Given the description of an element on the screen output the (x, y) to click on. 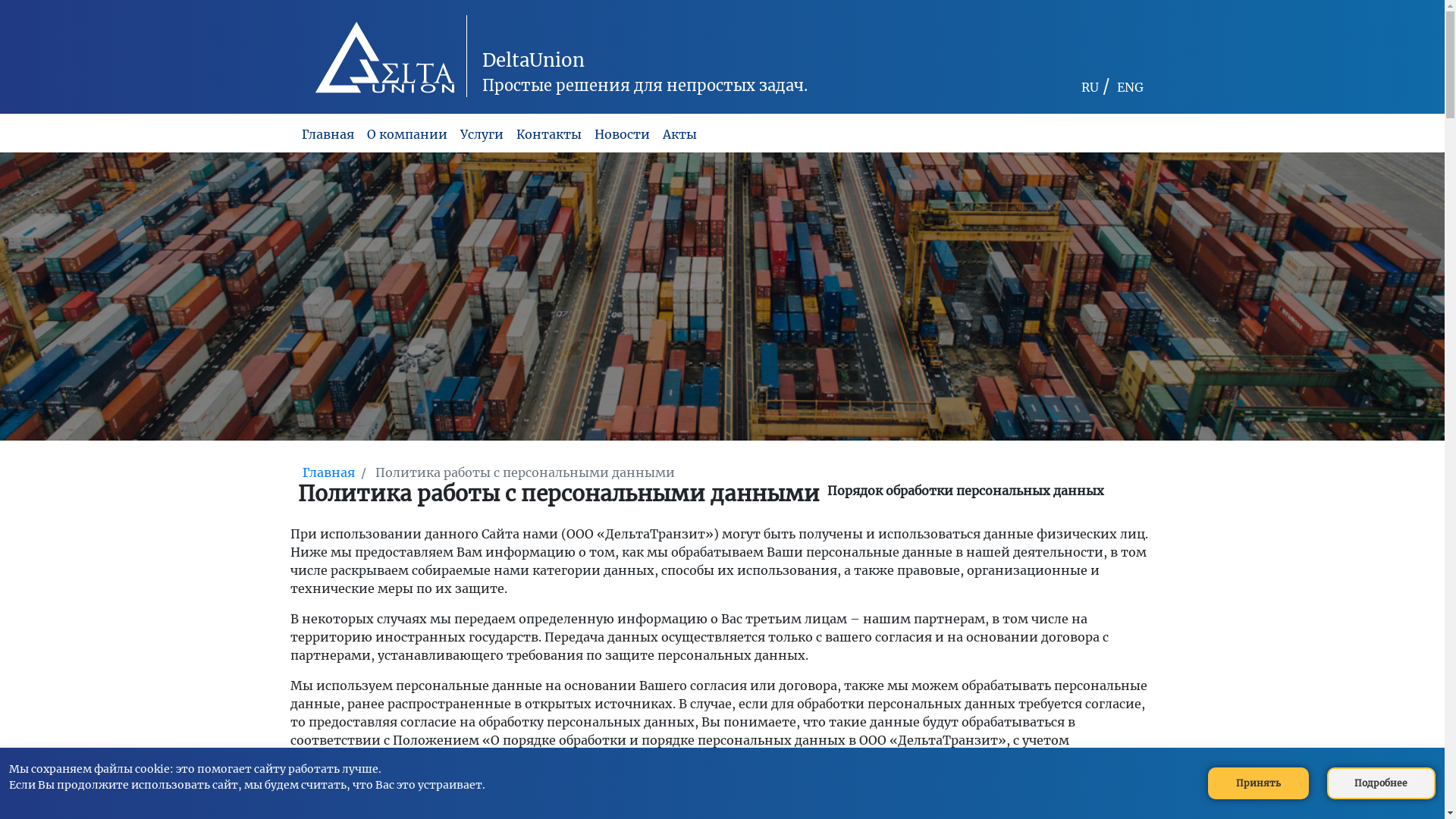
ENG Element type: text (1129, 86)
RU Element type: text (1089, 86)
